Given the description of an element on the screen output the (x, y) to click on. 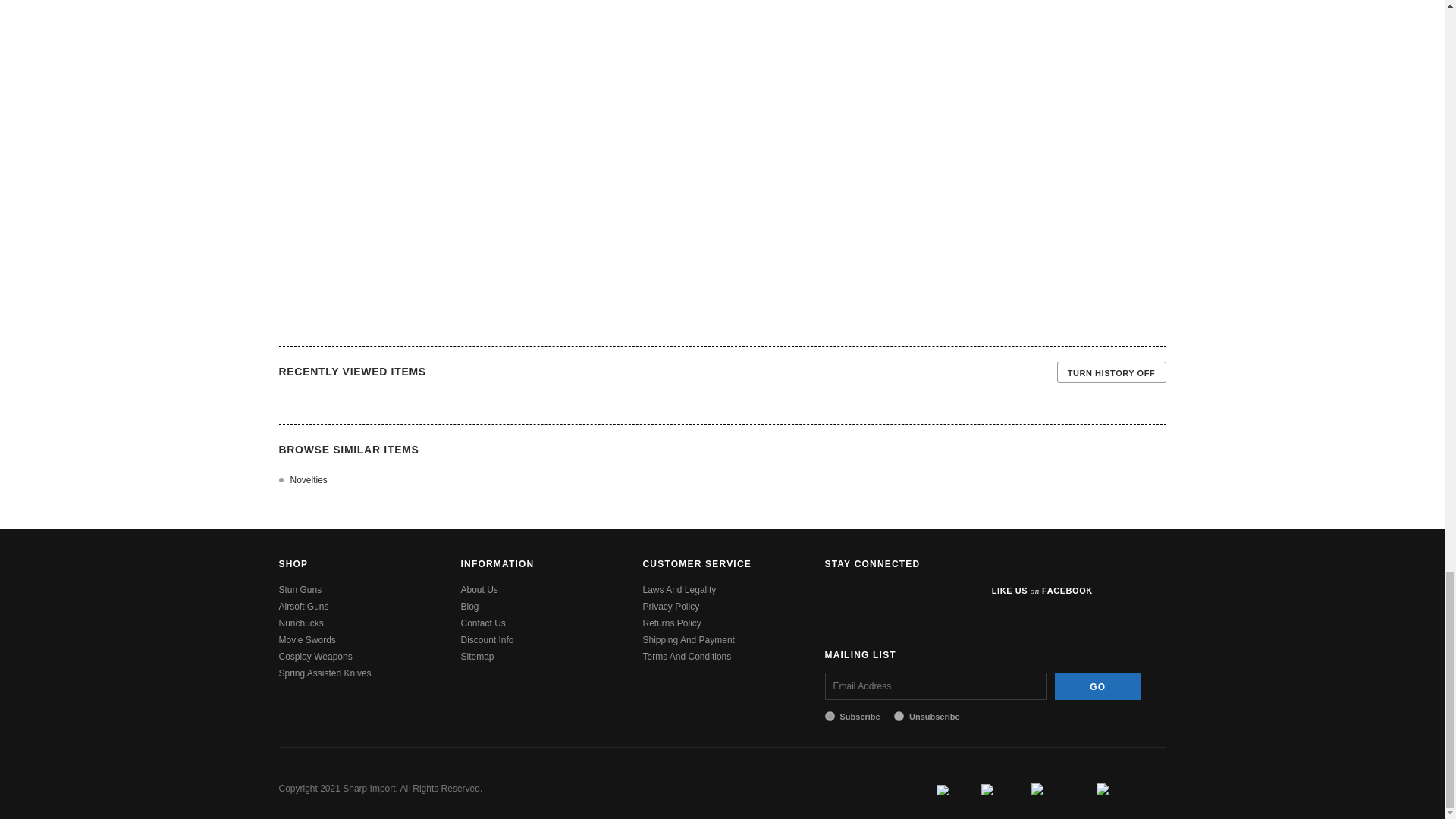
Like Us on Facebook (838, 596)
1 (829, 716)
Discover (1131, 787)
Follow Us on Instagram (911, 596)
GO (1097, 686)
Master Card (1055, 787)
Visa (951, 787)
0 (898, 716)
Follow Us on Pinterest (874, 596)
American Express (998, 787)
Follow Us on Tumblr (947, 596)
